Given the description of an element on the screen output the (x, y) to click on. 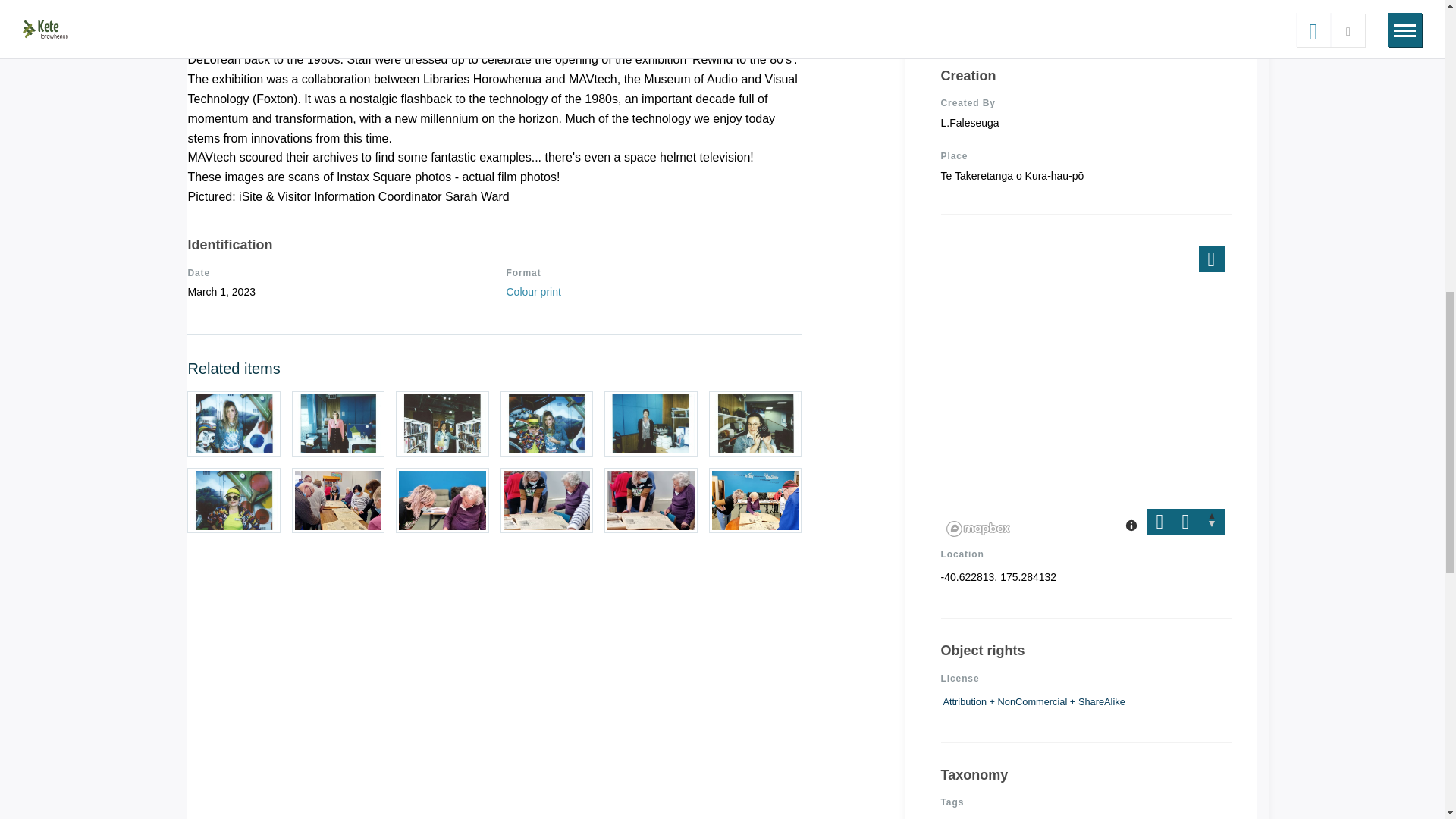
Rewind to the 80's - staff dress-up day (547, 423)
hexagon (196, 2)
Colour print (532, 291)
Rewind to the 80's - staff dress-up day (234, 423)
Rewind to the 80's - staff dress-up day (442, 423)
Rewind to the 80's - staff dress-up day (234, 500)
Rewind to the 80's - staff dress-up day (338, 423)
Rewind to the 80's - staff dress-up day (650, 423)
hexagon (210, 1)
Rewind to the 80's - staff dress-up day (755, 423)
